Given the description of an element on the screen output the (x, y) to click on. 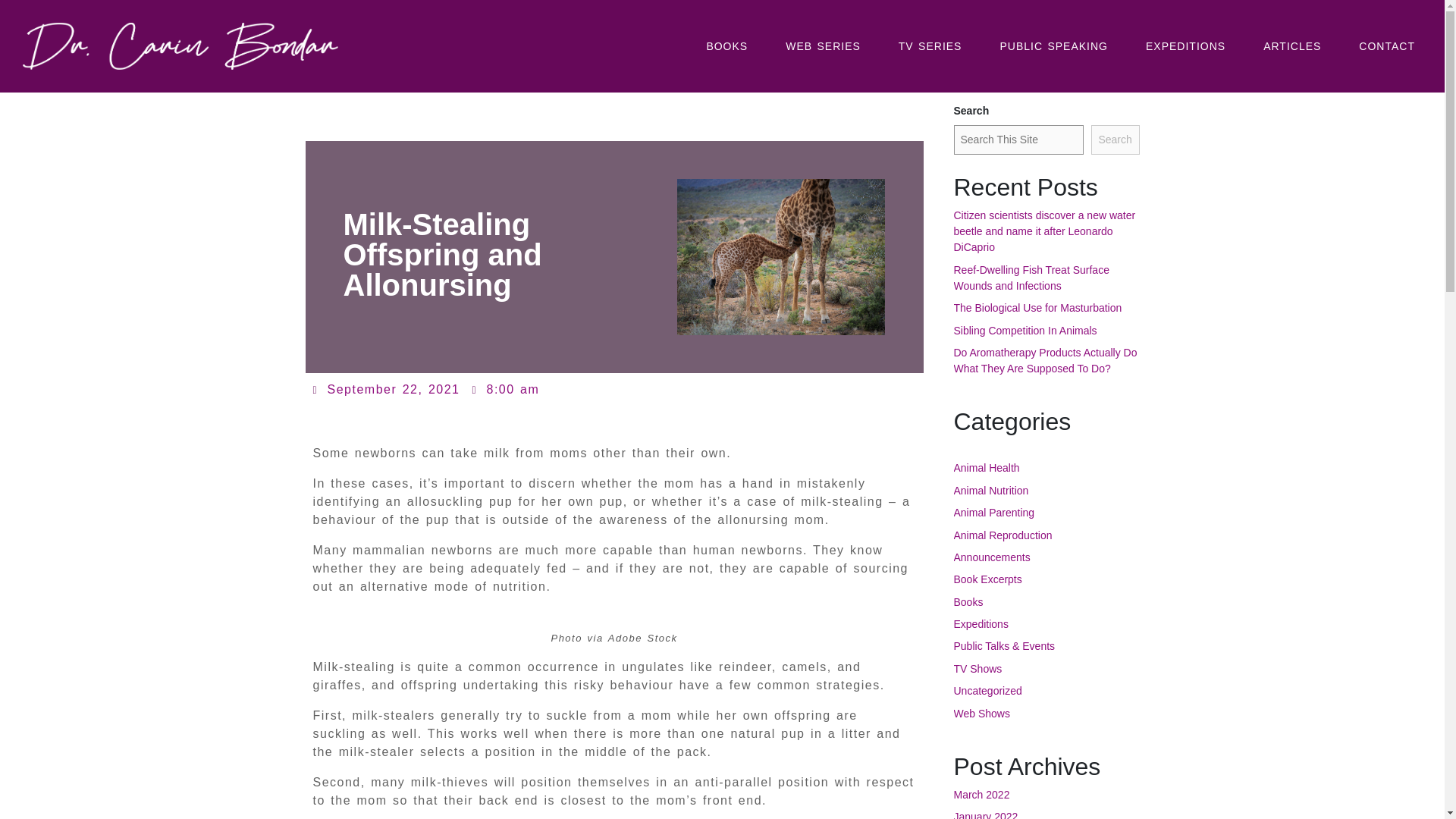
EXPEDITIONS (1185, 46)
Animal Nutrition (396, 62)
Animal Parenting (994, 512)
Home (320, 62)
Books (968, 602)
Animal Parenting (500, 62)
September 22, 2021 (386, 389)
WEB SERIES (823, 46)
Announcements (991, 557)
Sibling Competition In Animals (1025, 330)
Animal Health (986, 467)
Expeditions (981, 623)
BOOKS (726, 46)
